Given the description of an element on the screen output the (x, y) to click on. 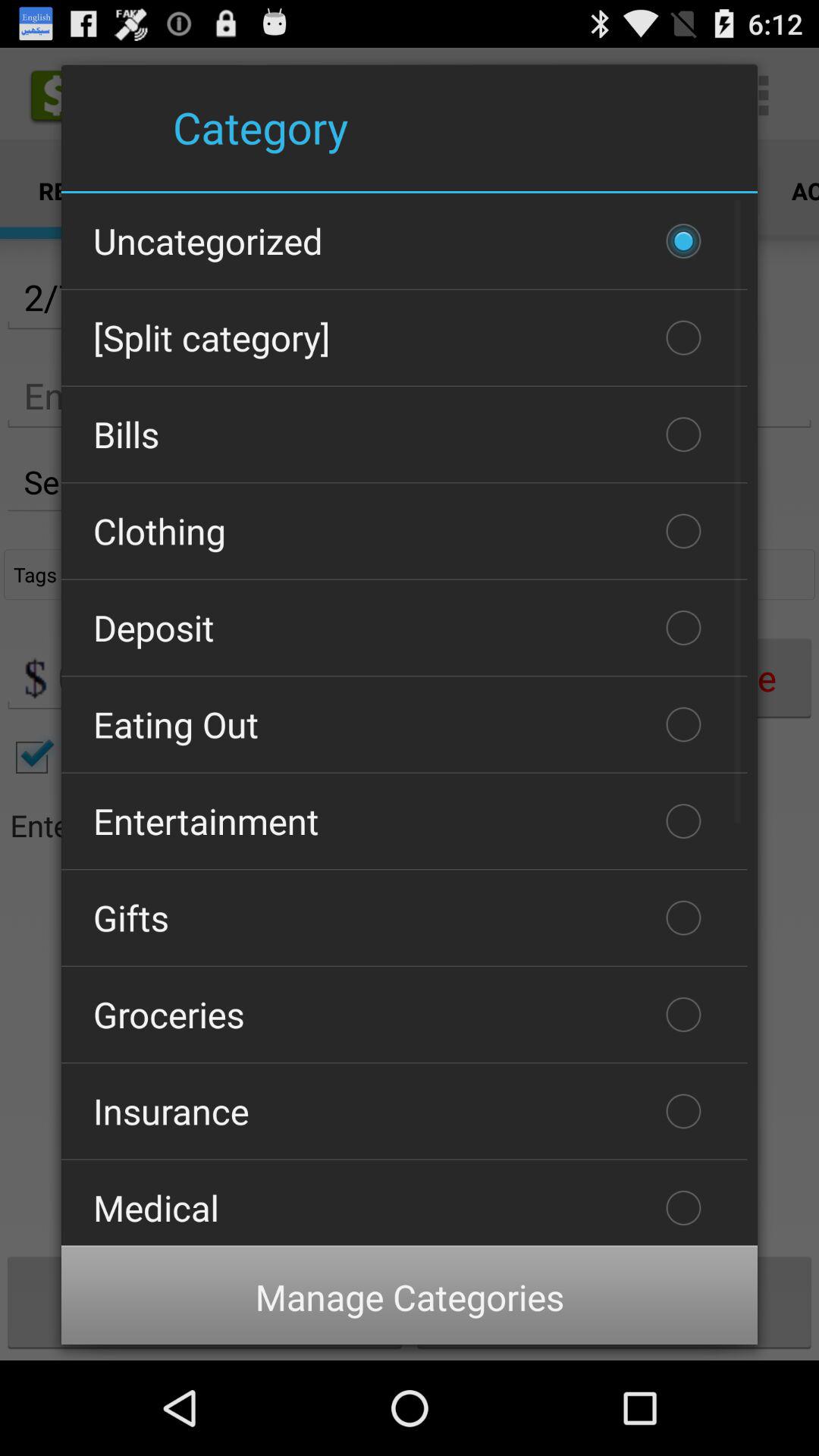
launch checkbox below entertainment icon (404, 917)
